Given the description of an element on the screen output the (x, y) to click on. 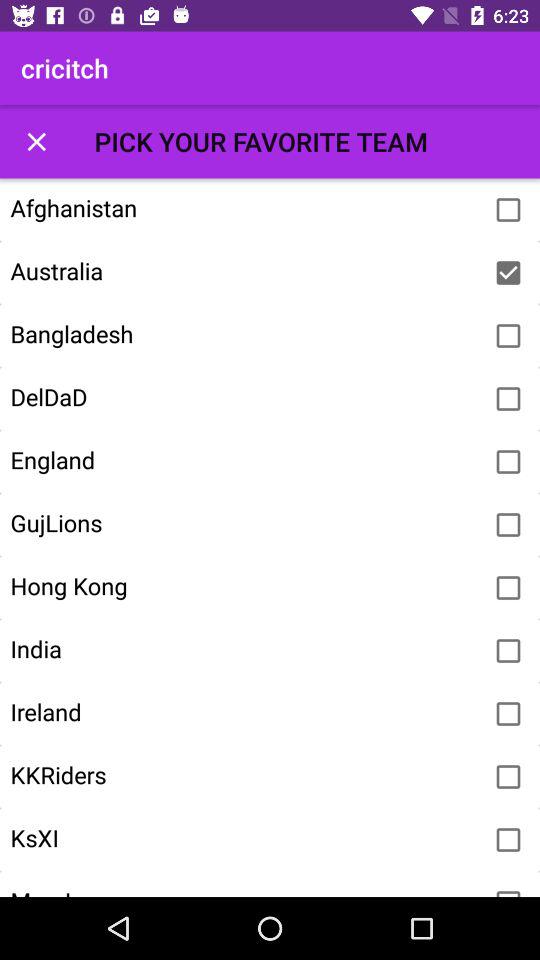
select kkriders (508, 777)
